Given the description of an element on the screen output the (x, y) to click on. 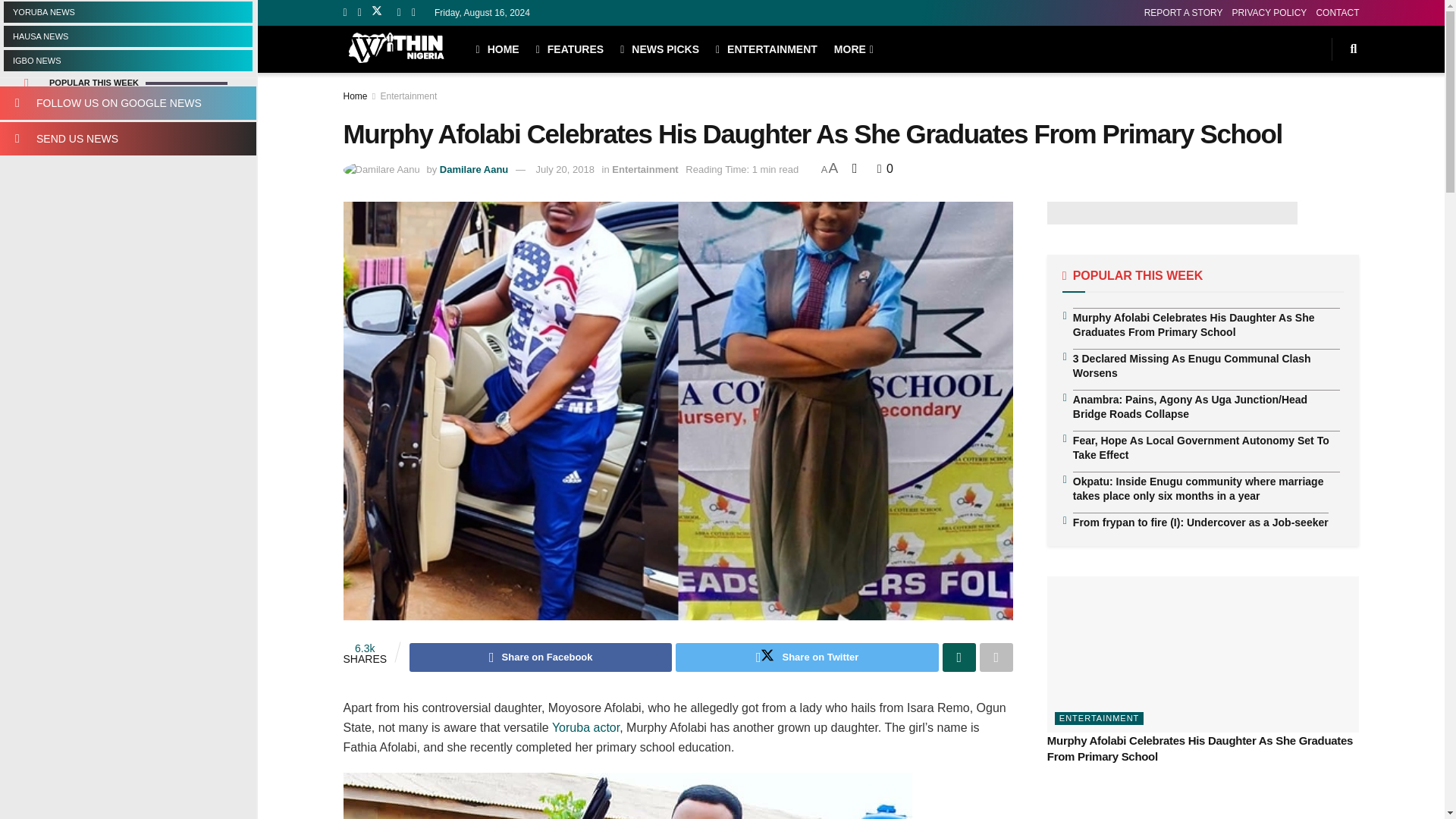
IGBO NEWS (127, 60)
PRIVACY POLICY (1268, 12)
HOME (497, 48)
NEWS PICKS (659, 48)
HAUSA NEWS (127, 35)
SEND NEWS TO WITHIN NIGERIA (128, 138)
ENTERTAINMENT (766, 48)
FOLLOW US ON GOOGLE NEWS (128, 102)
REPORT A STORY (1183, 12)
HAUSA NEWS (127, 35)
